Given the description of an element on the screen output the (x, y) to click on. 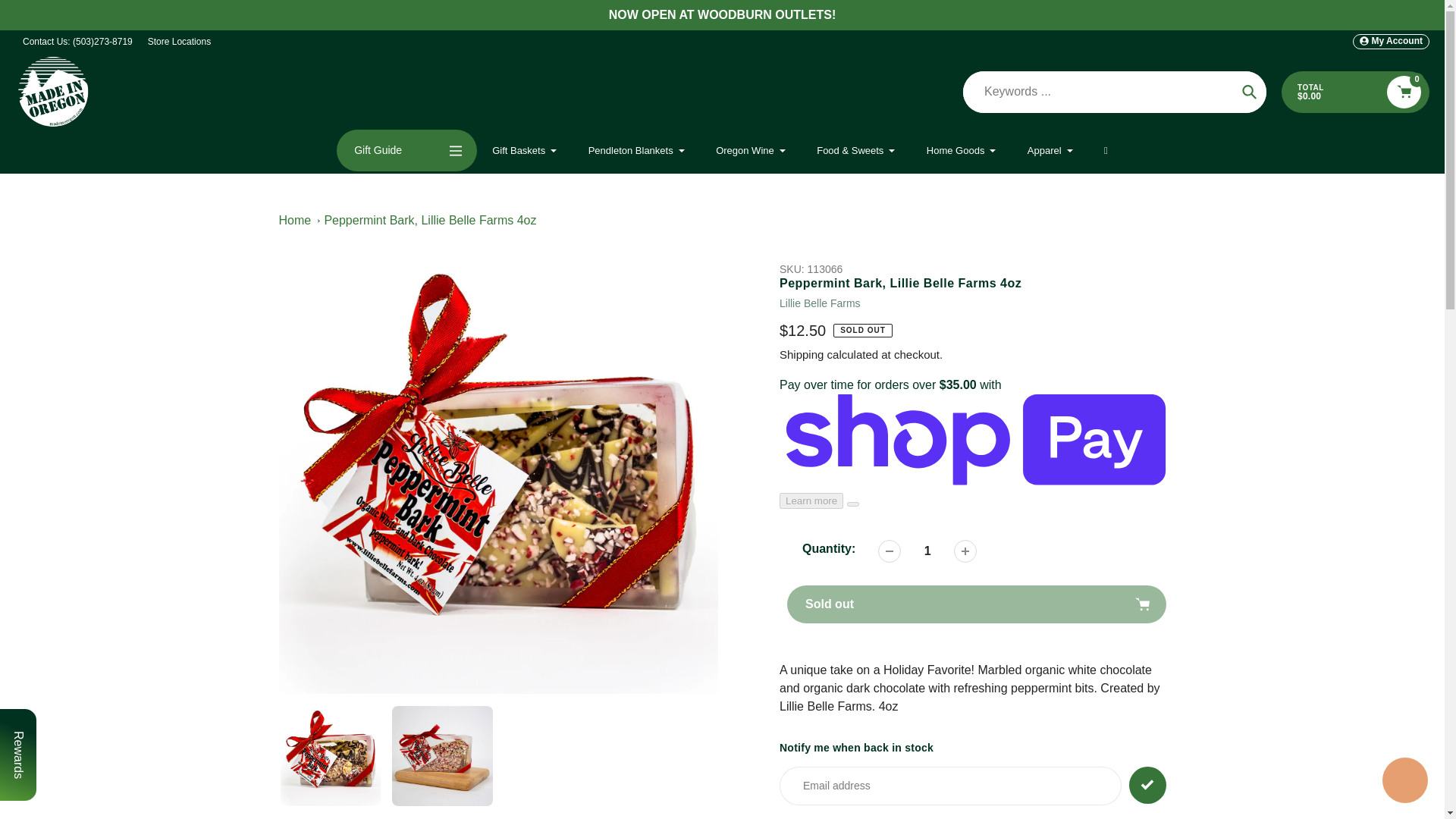
1 (927, 550)
Shopify online store chat (1404, 781)
NOW OPEN AT WOODBURN OUTLETS! (721, 14)
Store Locations (178, 41)
0 (1404, 92)
Lillie Belle Farms (819, 303)
My Account (1390, 41)
Gift Guide (406, 150)
